Given the description of an element on the screen output the (x, y) to click on. 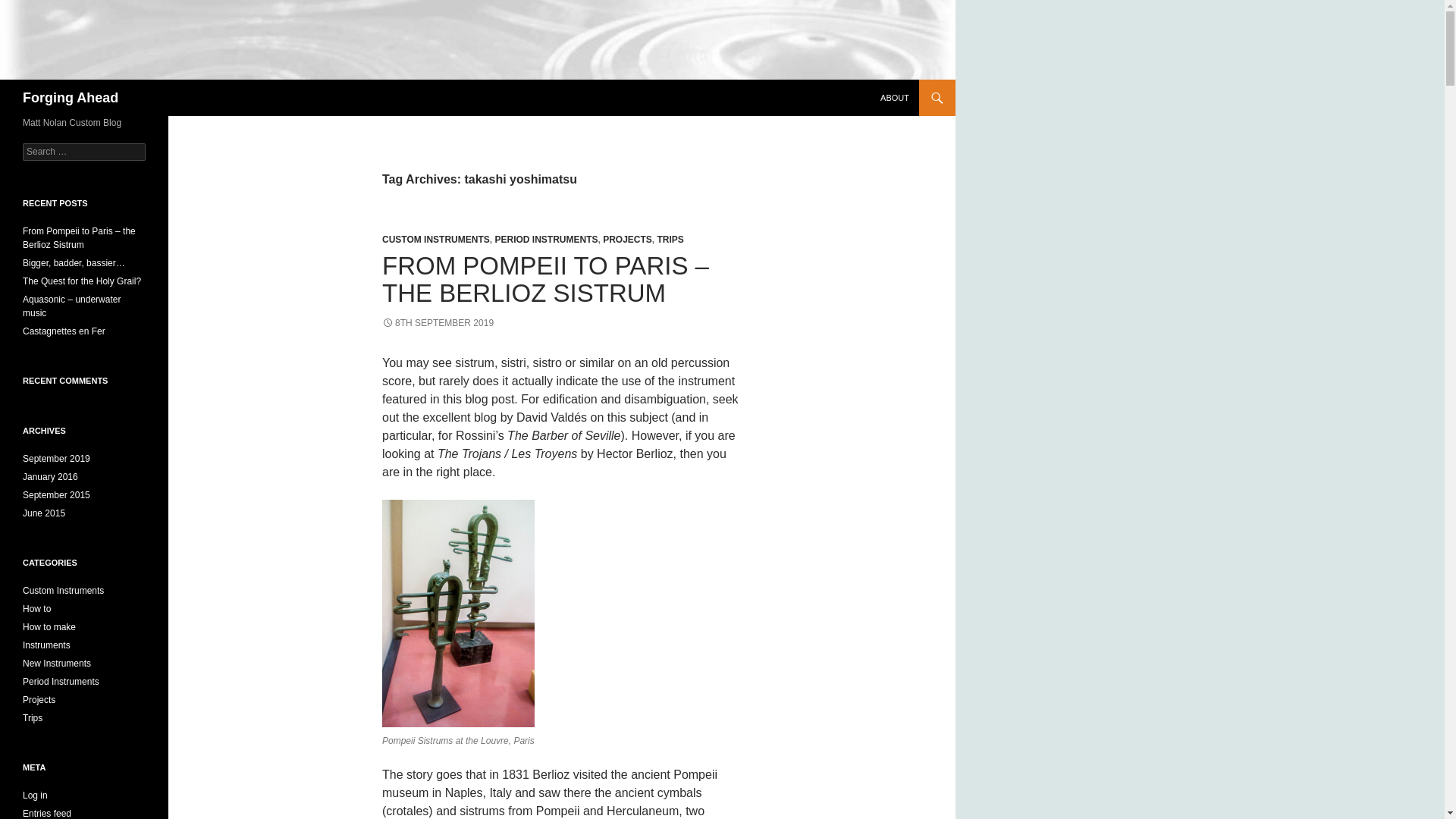
ABOUT (894, 97)
PROJECTS (627, 239)
8TH SEPTEMBER 2019 (437, 322)
CUSTOM INSTRUMENTS (435, 239)
PERIOD INSTRUMENTS (545, 239)
Forging Ahead (70, 97)
TRIPS (669, 239)
